Given the description of an element on the screen output the (x, y) to click on. 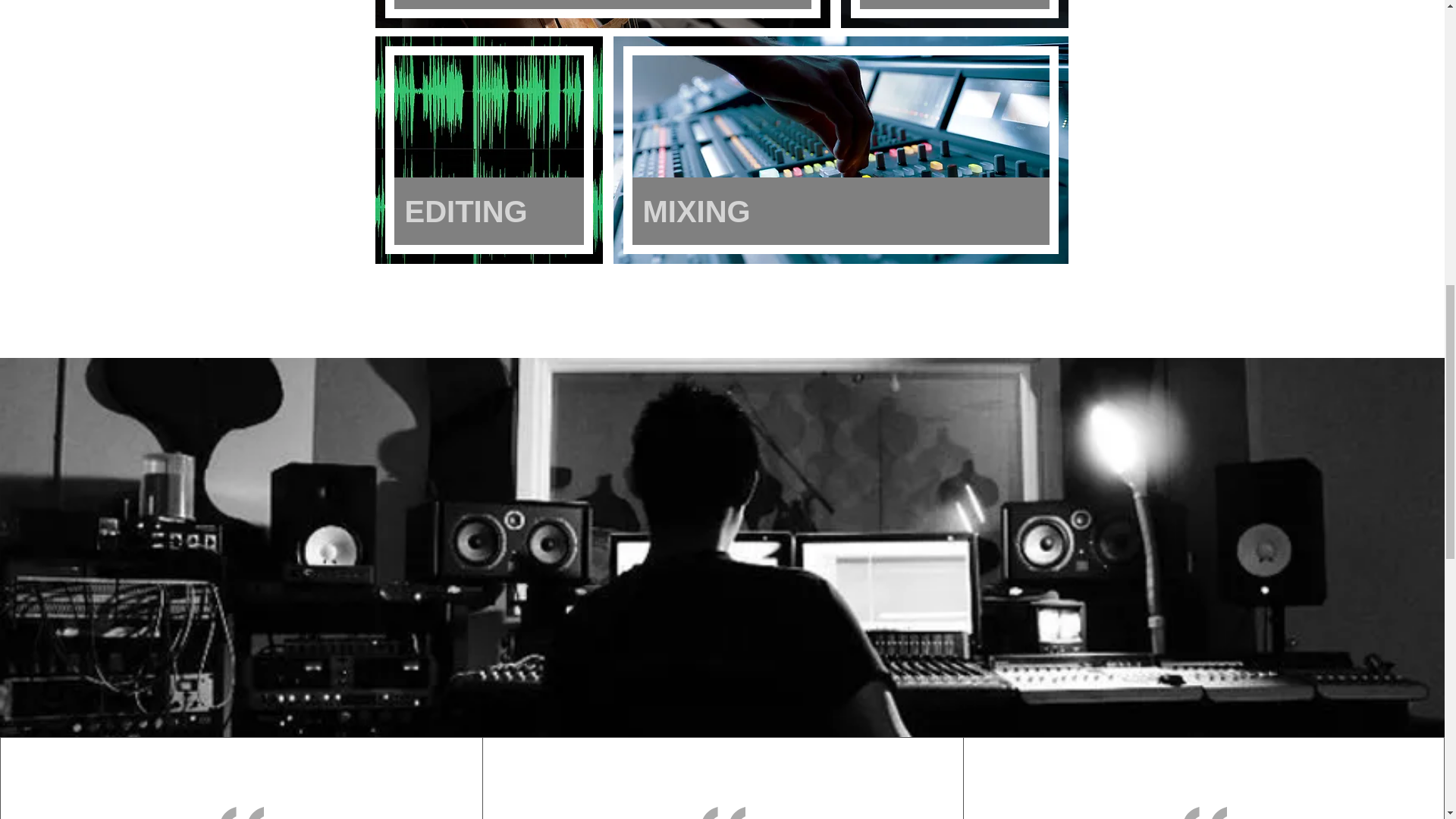
EDITING (488, 210)
FILM POST (954, 4)
MIXING (840, 210)
COMPOSITION (602, 4)
